Given the description of an element on the screen output the (x, y) to click on. 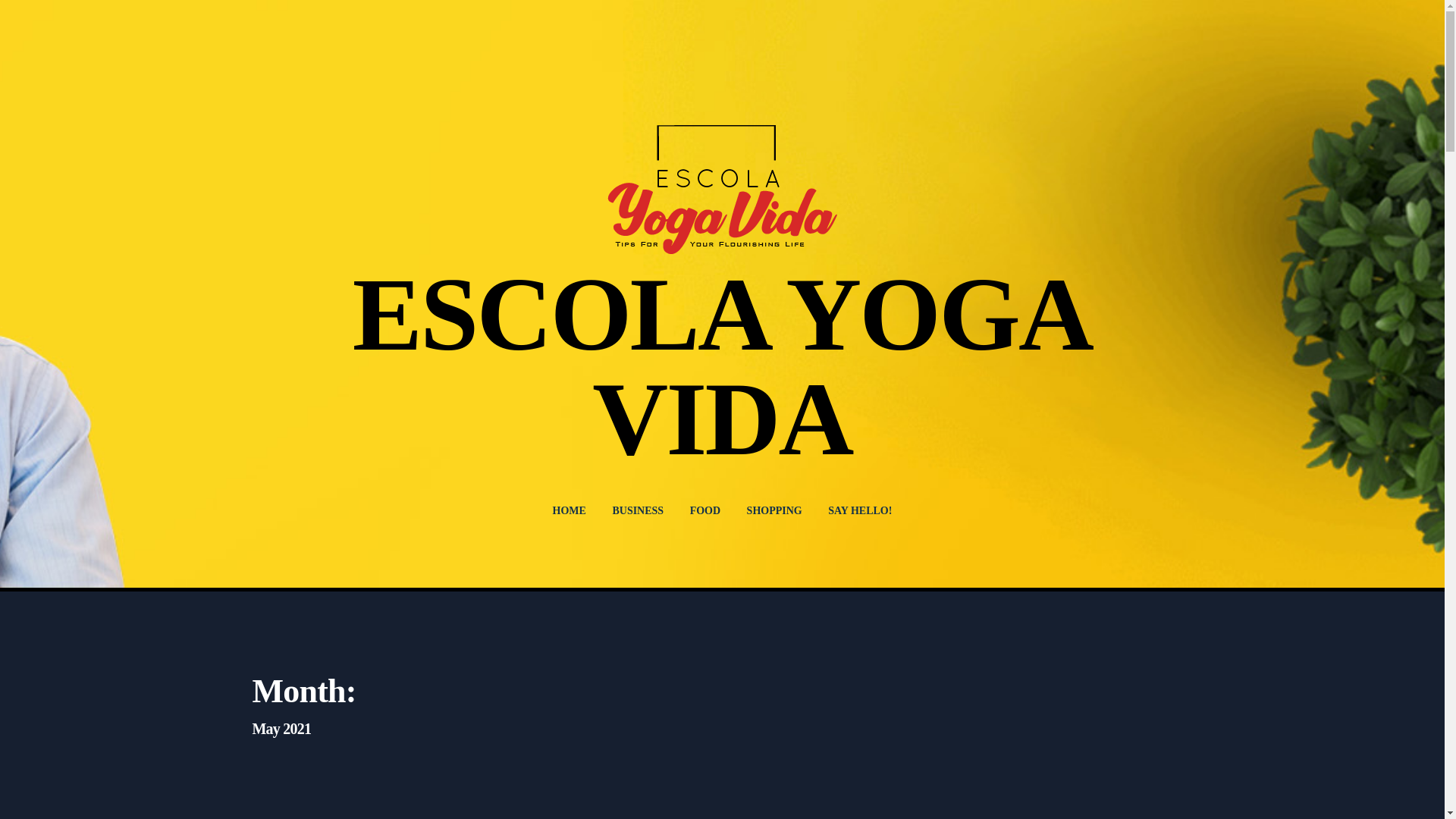
HOME (568, 511)
SHOPPING (774, 511)
BUSINESS (637, 511)
FOOD (705, 511)
SAY HELLO! (859, 511)
